Given the description of an element on the screen output the (x, y) to click on. 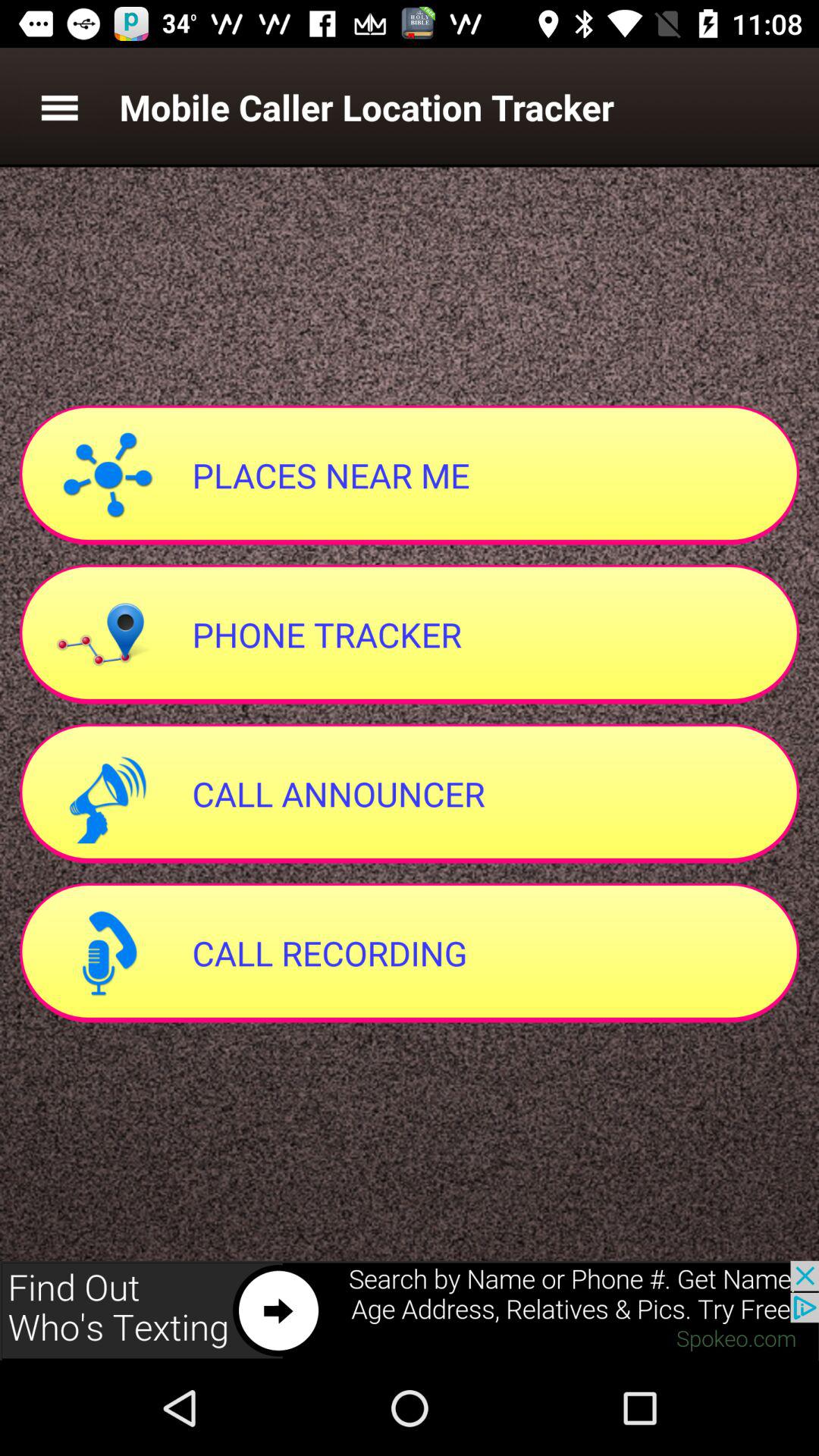
more option (59, 107)
